Given the description of an element on the screen output the (x, y) to click on. 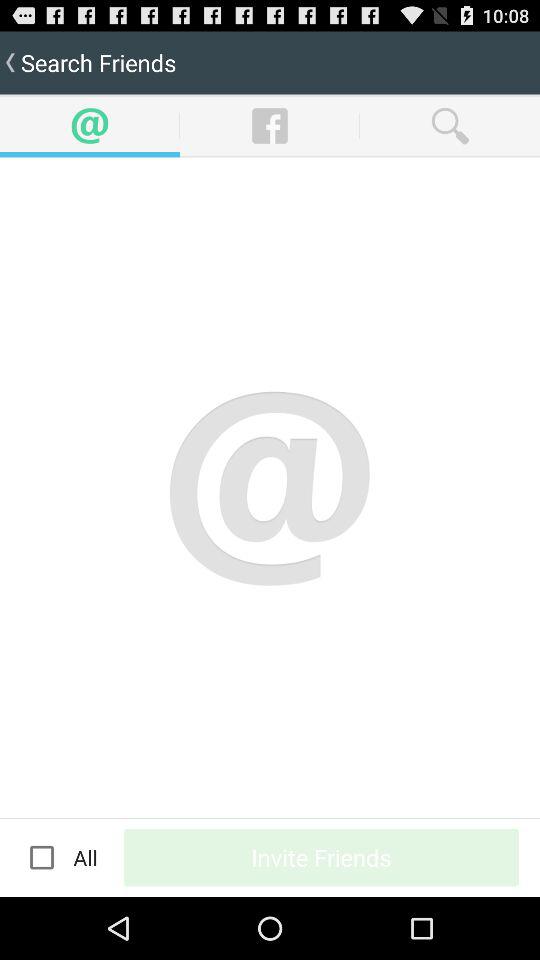
press the invite friends item (321, 857)
